Given the description of an element on the screen output the (x, y) to click on. 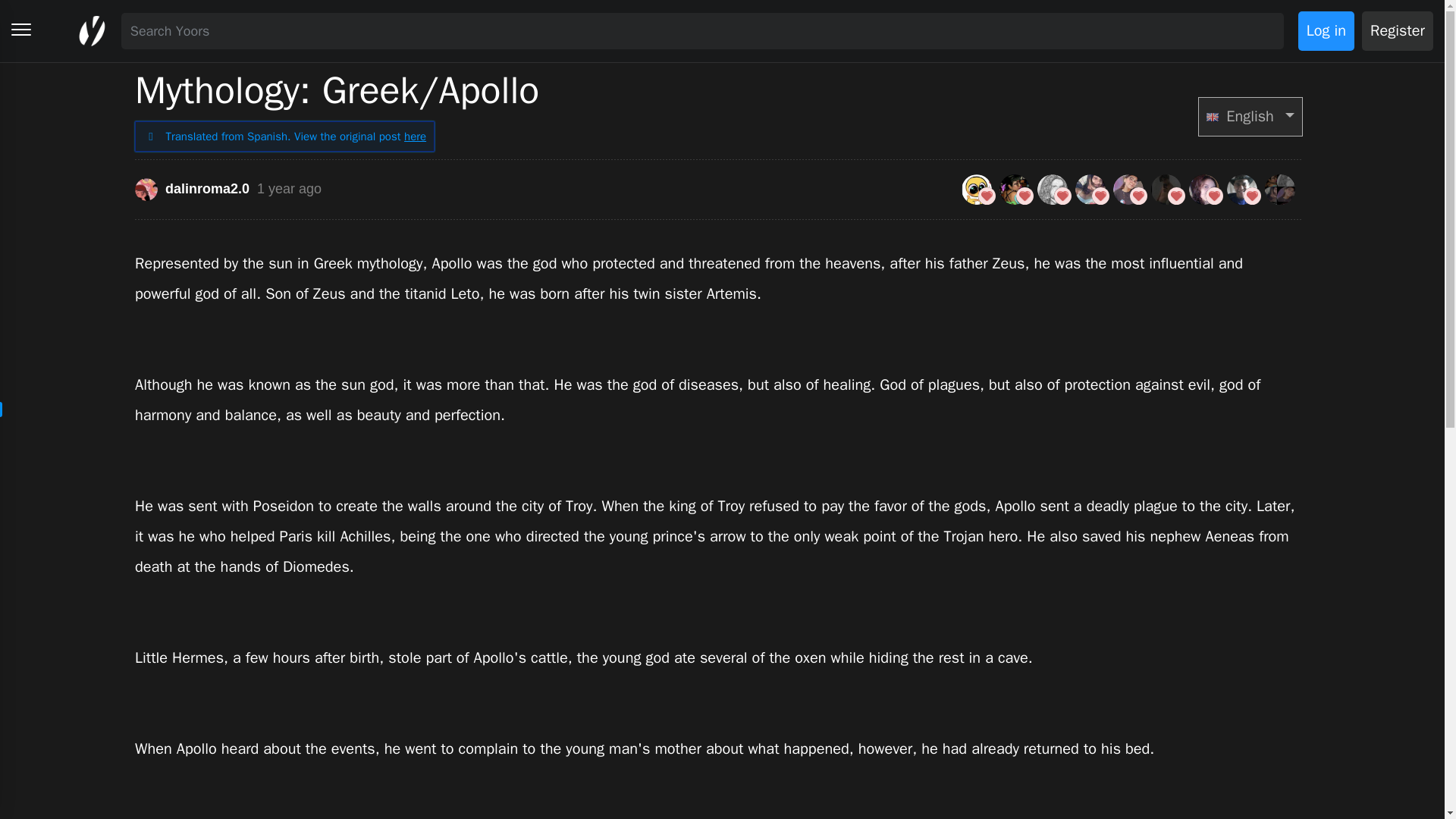
Log in (1326, 30)
Register (1396, 30)
here (415, 136)
dalinroma2.0 (191, 189)
English (1250, 116)
